Given the description of an element on the screen output the (x, y) to click on. 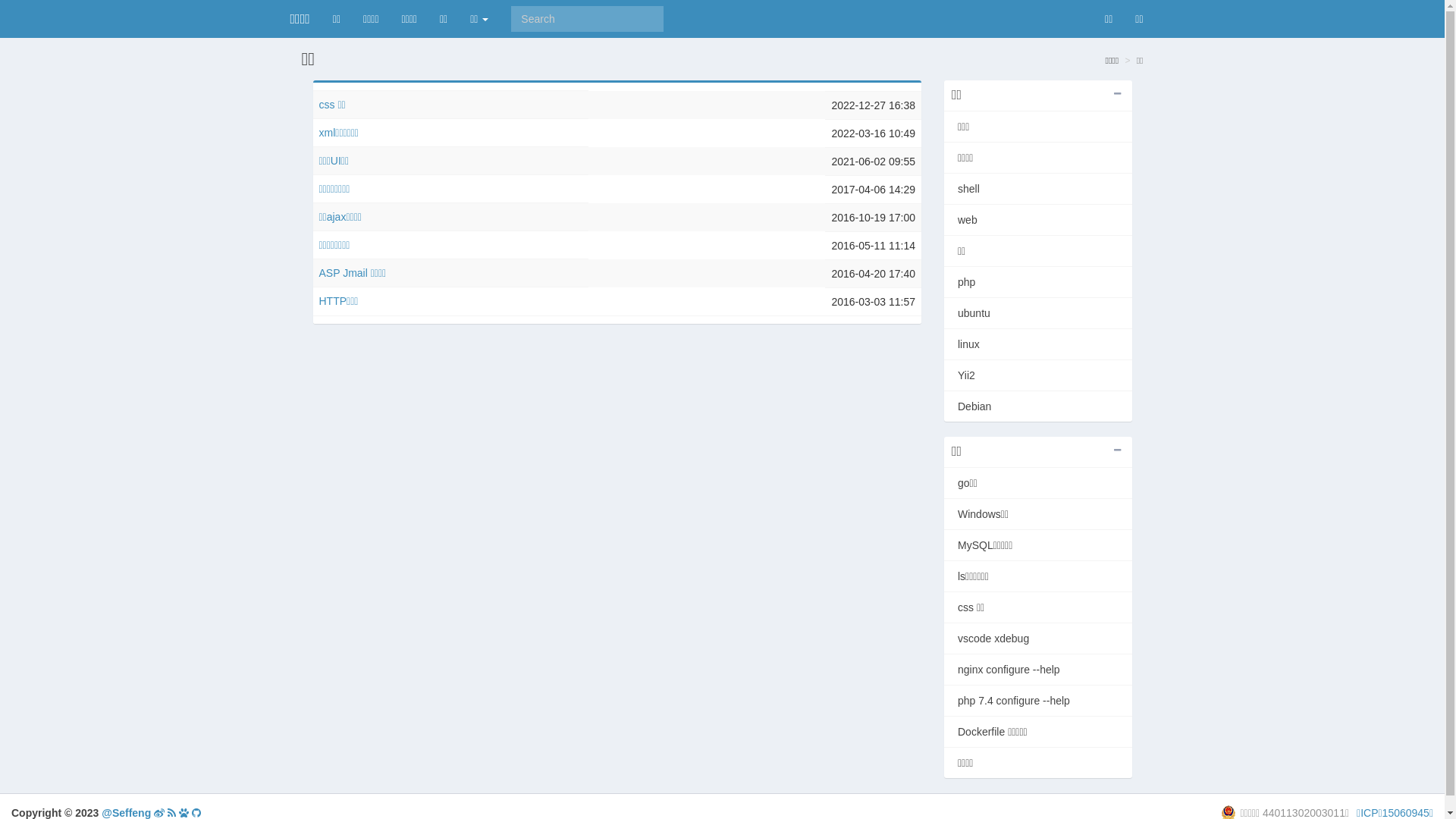
GitHub Element type: hover (195, 812)
shell Element type: text (1038, 188)
Debian Element type: text (1038, 406)
php 7.4 configure --help Element type: text (1038, 700)
nginx configure --help Element type: text (1038, 669)
php Element type: text (1038, 281)
Yii2 Element type: text (1038, 375)
vscode xdebug Element type: text (1038, 638)
linux Element type: text (1038, 344)
ubuntu Element type: text (1038, 313)
web Element type: text (1038, 219)
